Given the description of an element on the screen output the (x, y) to click on. 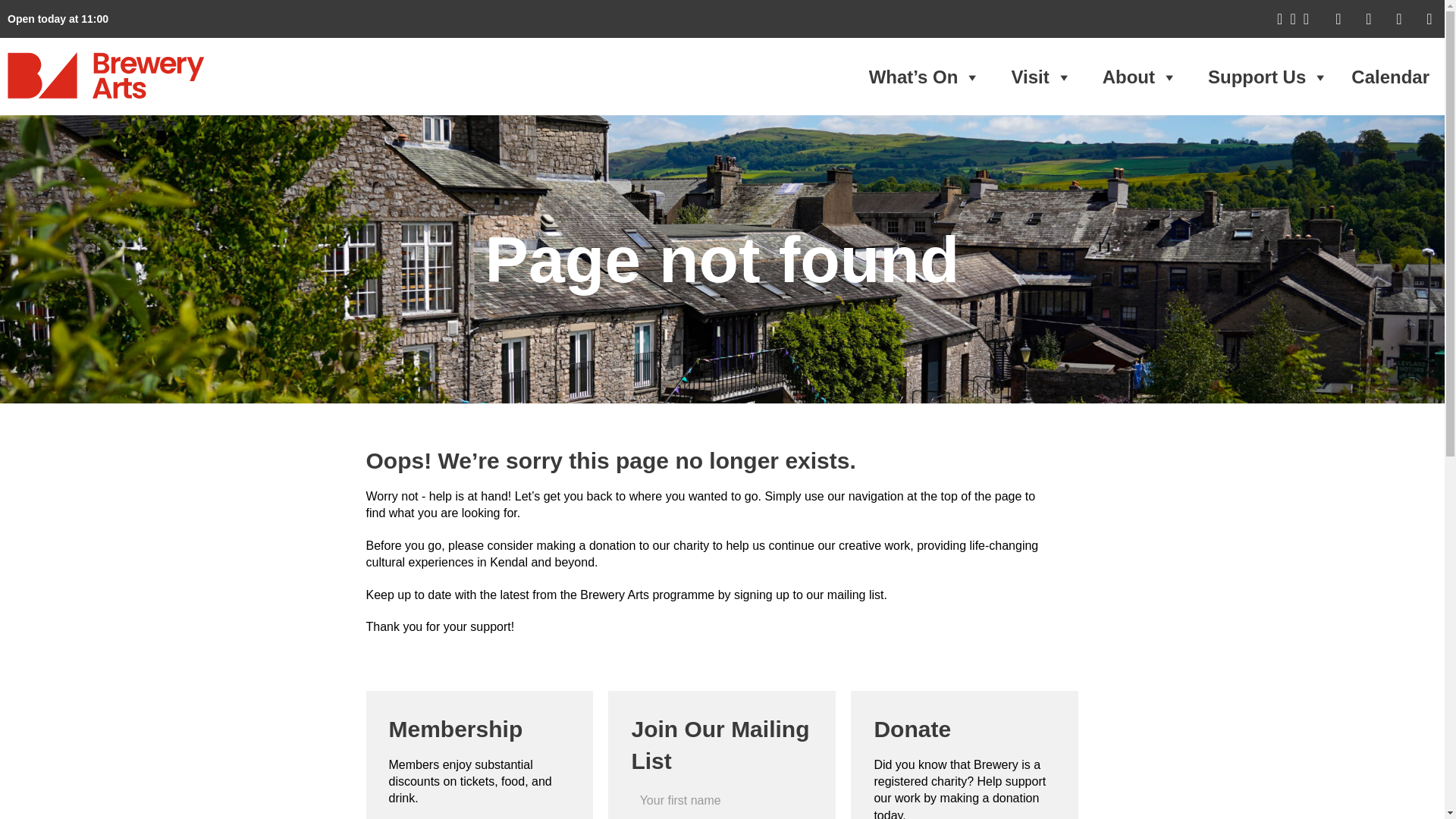
About (1139, 77)
Open today at 11:00 (57, 19)
Visit (1040, 77)
